Given the description of an element on the screen output the (x, y) to click on. 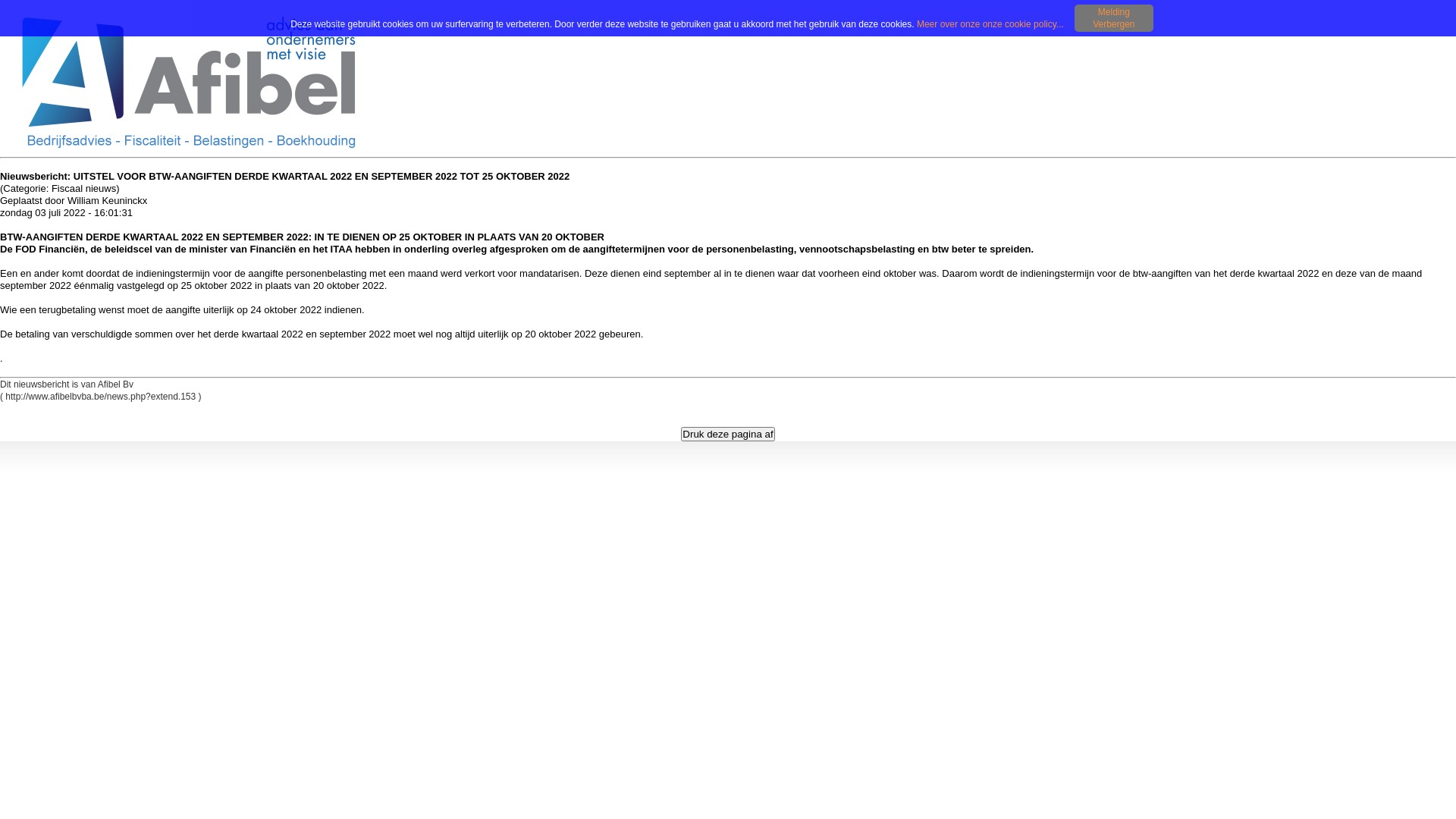
Druk deze pagina af Element type: text (727, 433)
Meer over onze onze cookie policy... Element type: text (992, 23)
Melding Verbergen Element type: text (1113, 17)
